Given the description of an element on the screen output the (x, y) to click on. 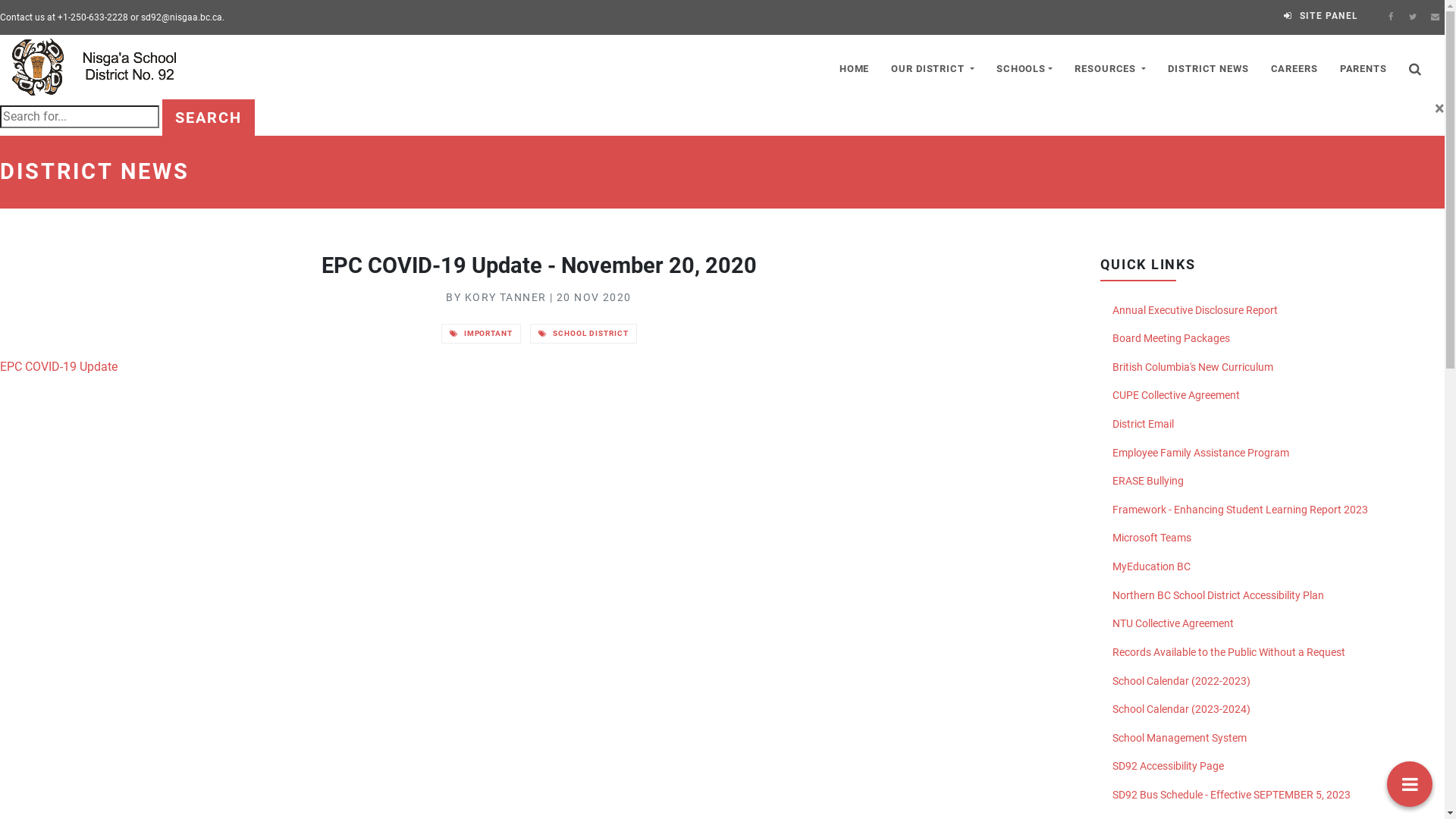
Nisga'a - go to homepage Element type: text (103, 66)
School Calendar (2022-2023) Element type: text (1272, 681)
PARENTS Element type: text (1362, 66)
SEARCH Element type: text (208, 117)
CAREERS Element type: text (1293, 66)
SCHOOL DISTRICT Element type: text (583, 333)
Employee Family Assistance Program Element type: text (1272, 453)
British Columbia's New Curriculum Element type: text (1272, 367)
MyEducation BC Element type: text (1272, 566)
District Email Element type: text (1272, 424)
ERASE Bullying Element type: text (1272, 481)
Microsoft Teams Element type: text (1272, 538)
SD92 Bus Schedule - Effective SEPTEMBER 5, 2023 Element type: text (1272, 795)
SD92 Accessibility Page Element type: text (1272, 766)
IMPORTANT Element type: text (481, 333)
Records Available to the Public Without a Request Element type: text (1272, 652)
EPC COVID-19 Update Element type: text (58, 366)
Framework - Enhancing Student Learning Report 2023 Element type: text (1272, 509)
SCHOOLS Element type: text (1024, 66)
HOME Element type: text (853, 66)
NTU Collective Agreement Element type: text (1272, 623)
School Calendar (2023-2024) Element type: text (1272, 709)
DISTRICT NEWS Element type: text (1208, 66)
SITE PANEL Element type: text (1320, 15)
Northern BC School District Accessibility Plan Element type: text (1272, 595)
CUPE Collective Agreement Element type: text (1272, 395)
Annual Executive Disclosure Report Element type: text (1272, 310)
Board Meeting Packages Element type: text (1272, 338)
School Management System Element type: text (1272, 738)
OUR DISTRICT Element type: text (932, 66)
RESOURCES Element type: text (1110, 66)
